Given the description of an element on the screen output the (x, y) to click on. 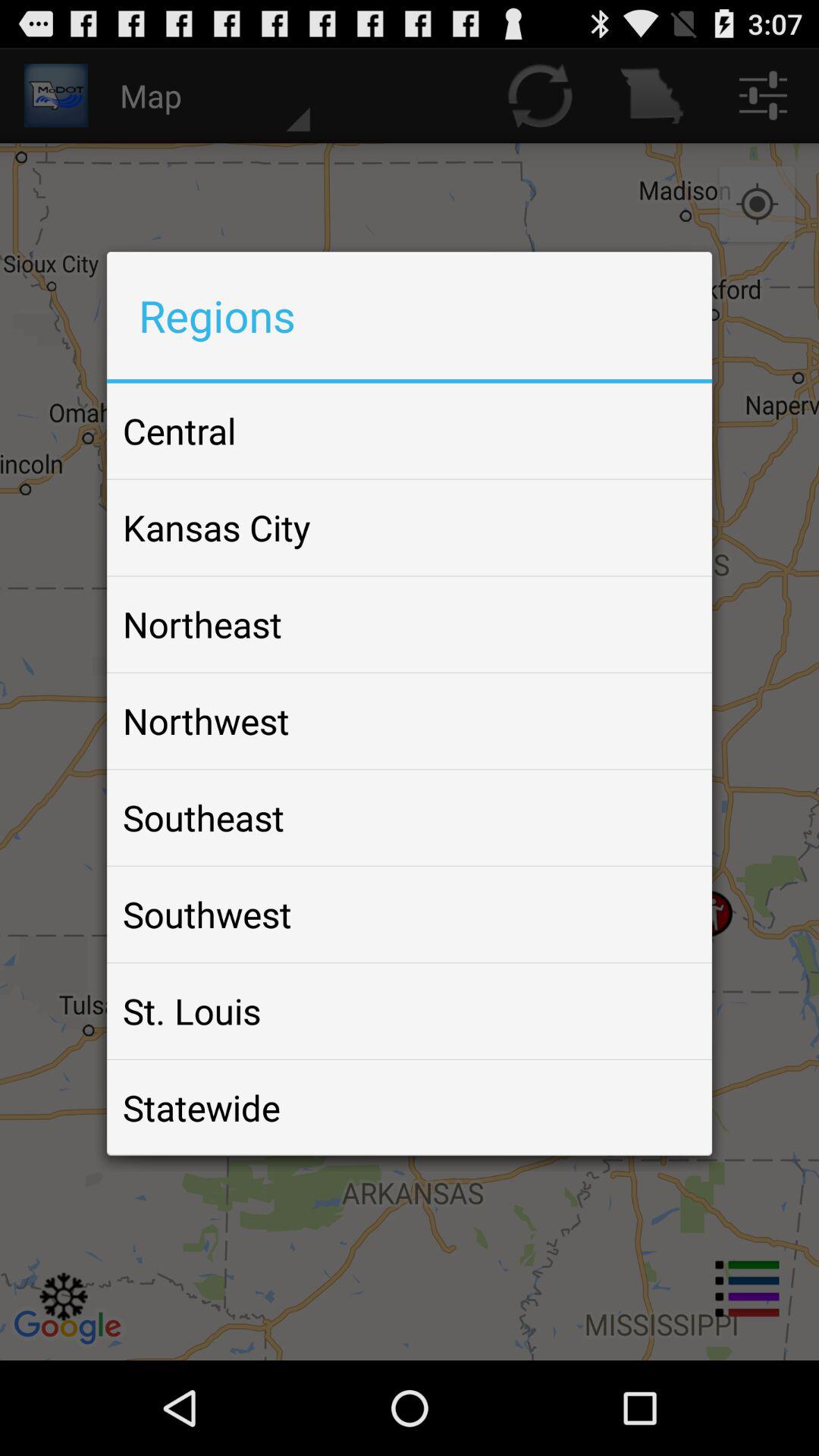
flip until the kansas city app (216, 527)
